Given the description of an element on the screen output the (x, y) to click on. 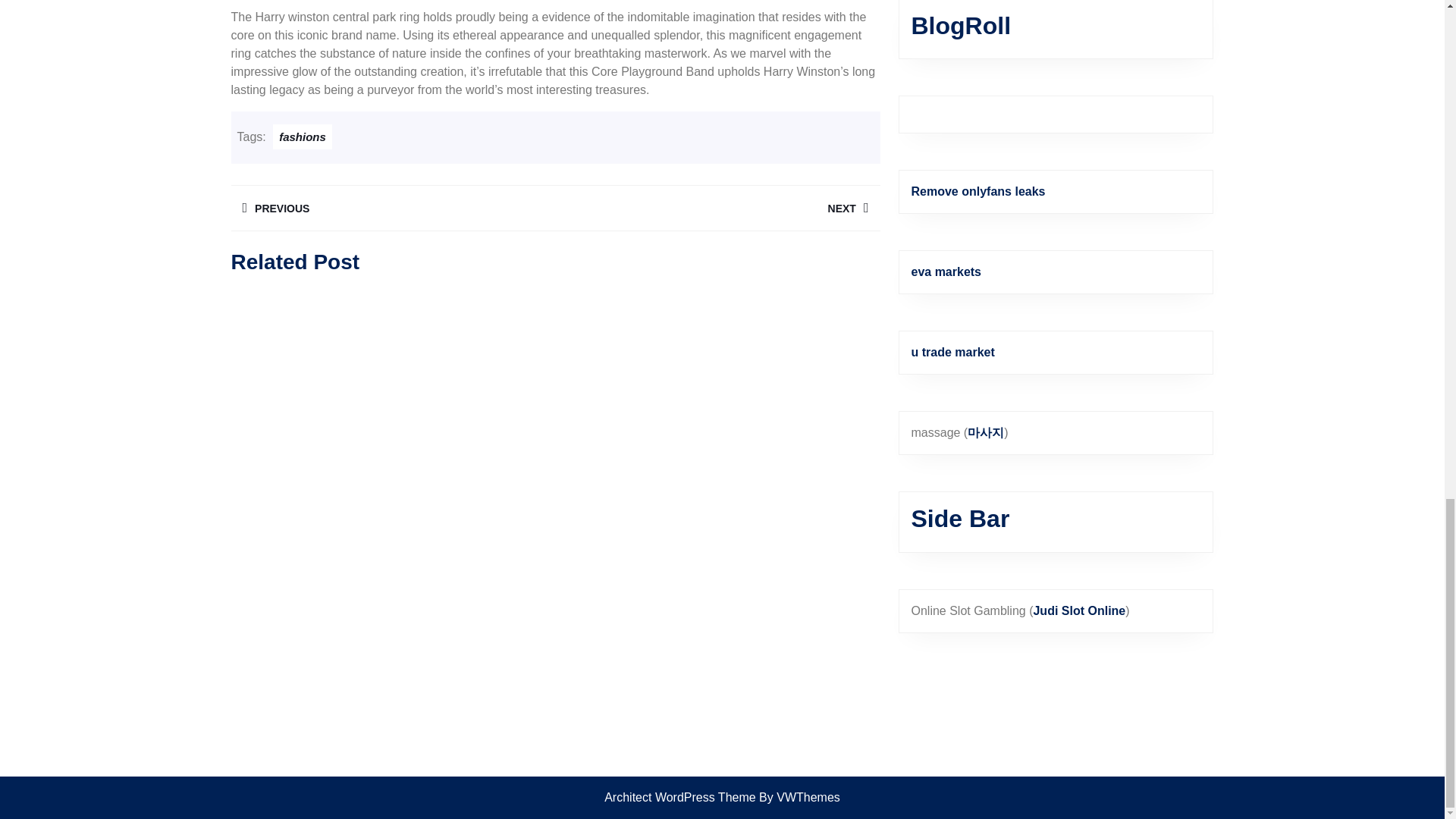
fashions (392, 207)
